Given the description of an element on the screen output the (x, y) to click on. 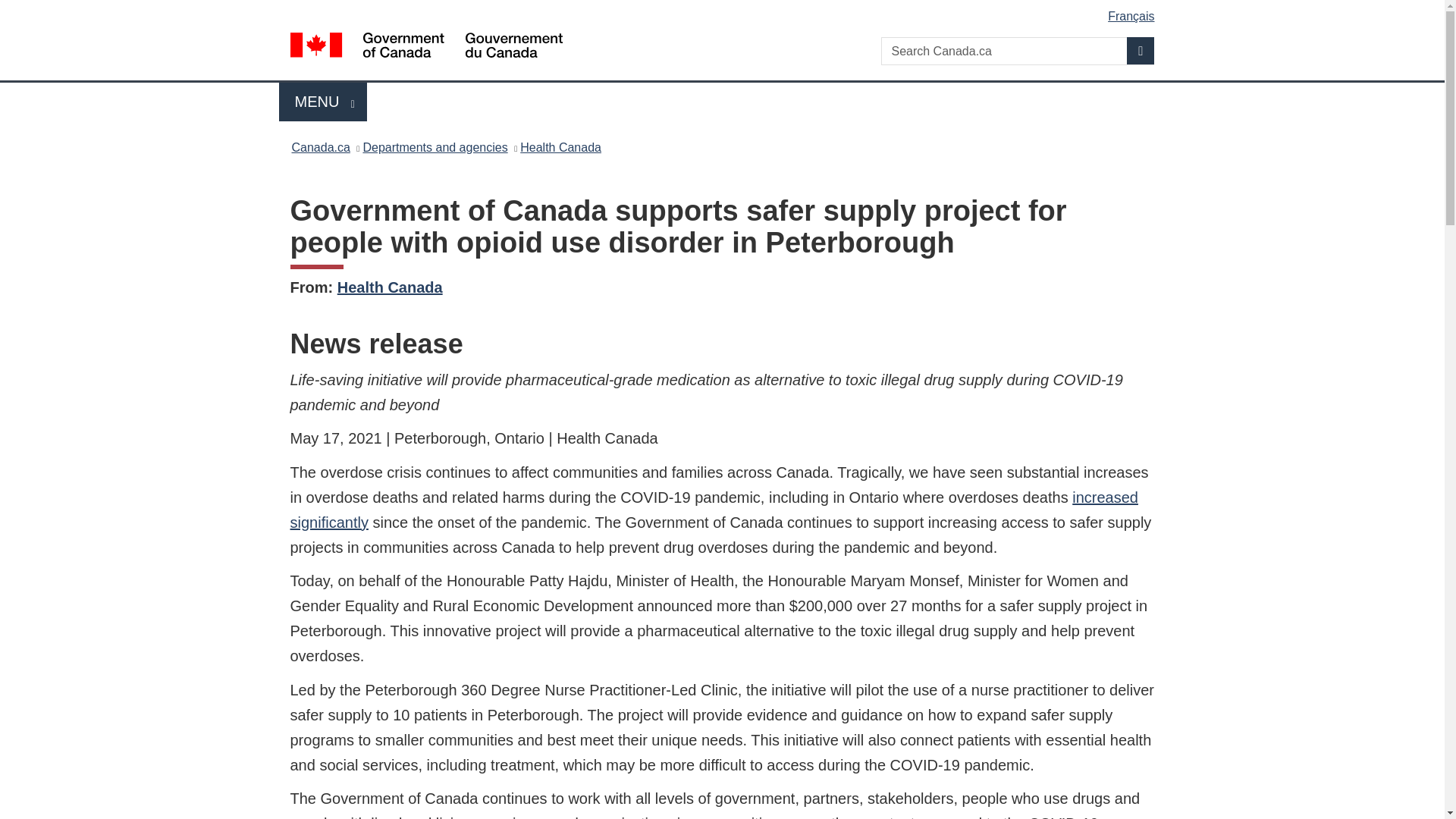
Skip to main content (725, 11)
increased significantly (713, 509)
Search (1140, 50)
Canada.ca (322, 101)
Health Canada (320, 147)
Departments and agencies (389, 287)
Health Canada (434, 147)
